Given the description of an element on the screen output the (x, y) to click on. 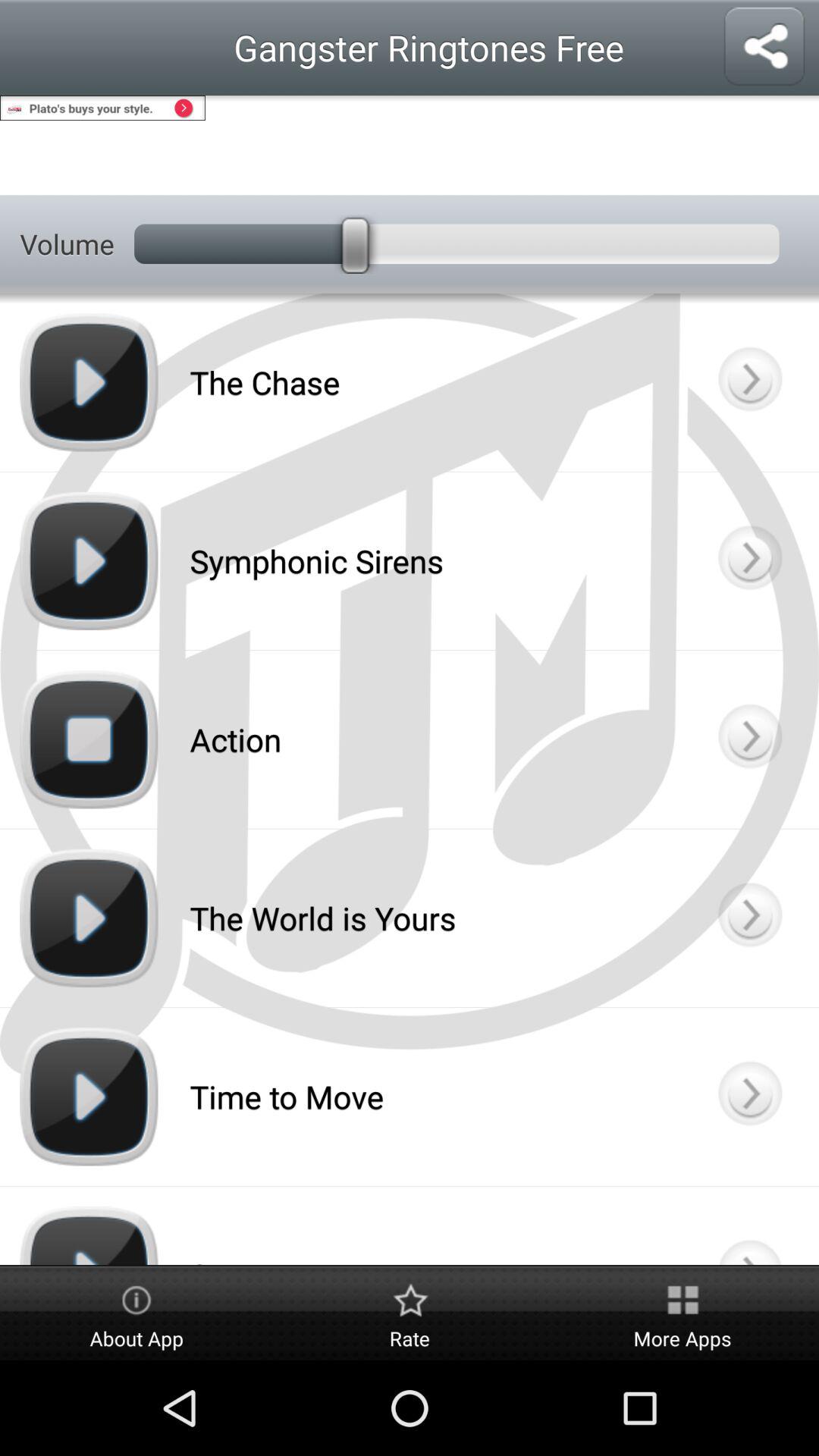
select ringtone (749, 561)
